Given the description of an element on the screen output the (x, y) to click on. 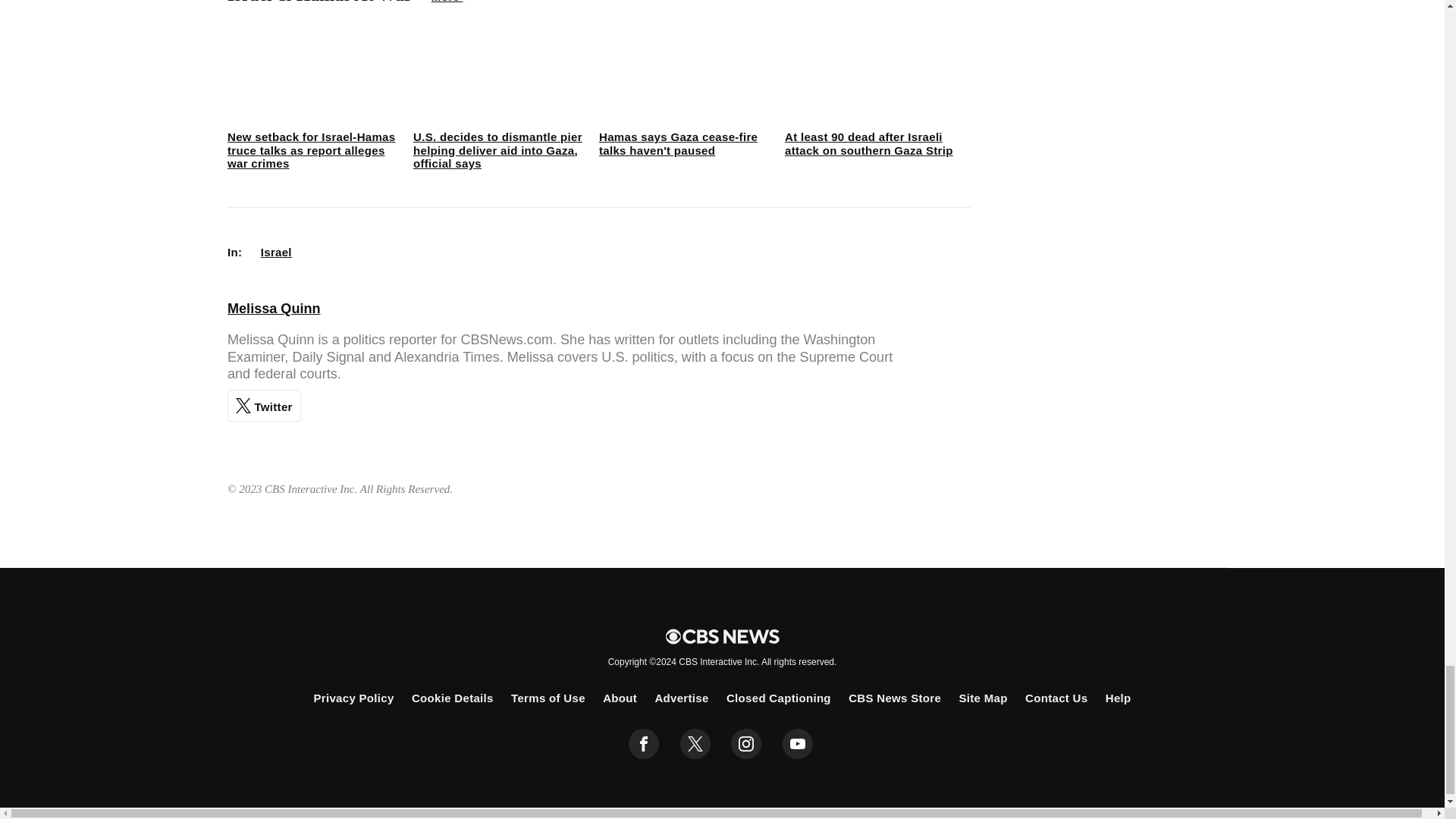
youtube (797, 743)
facebook (643, 743)
twitter (694, 743)
instagram (745, 743)
